Given the description of an element on the screen output the (x, y) to click on. 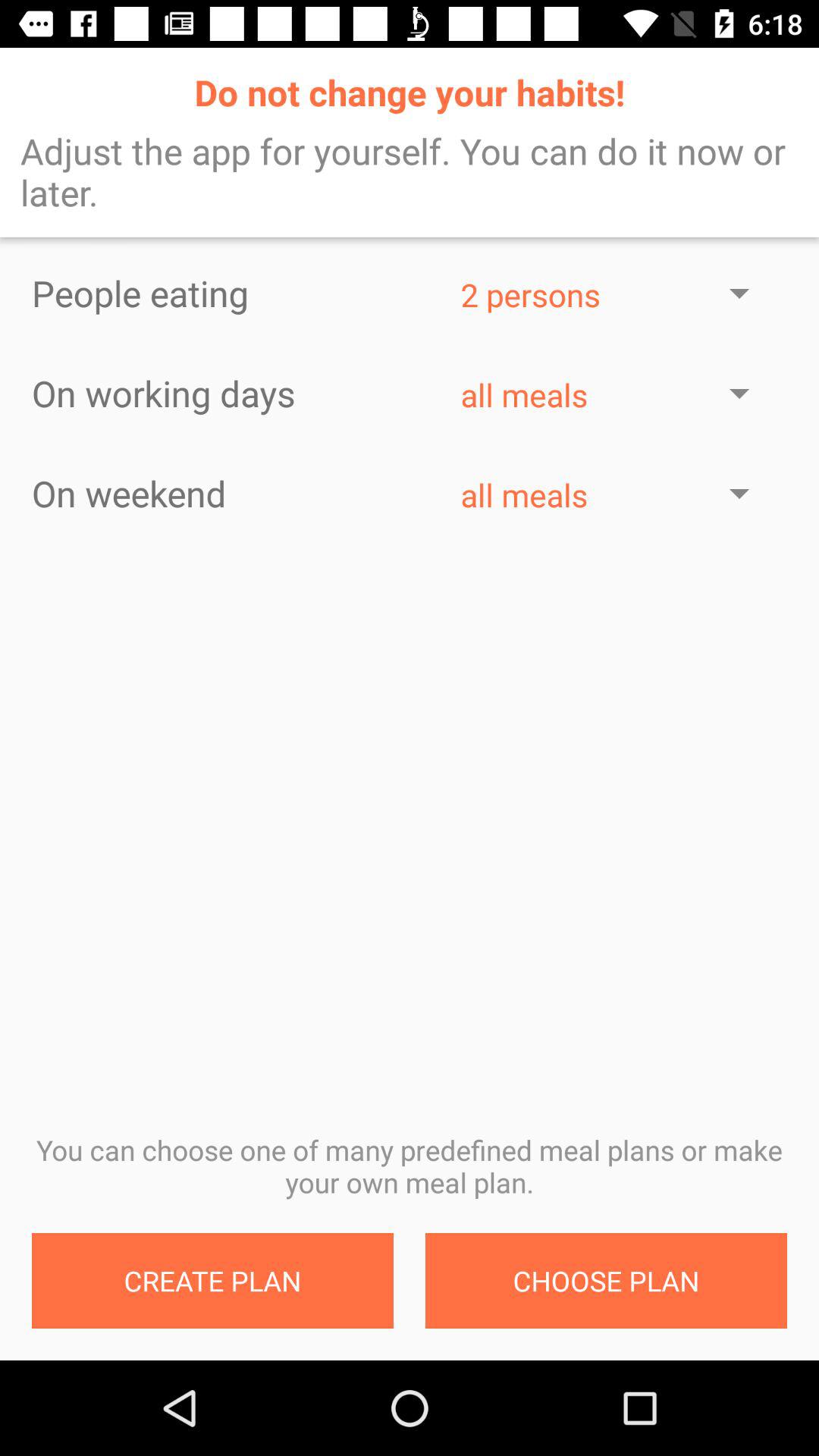
turn off item below the you can choose (212, 1280)
